Given the description of an element on the screen output the (x, y) to click on. 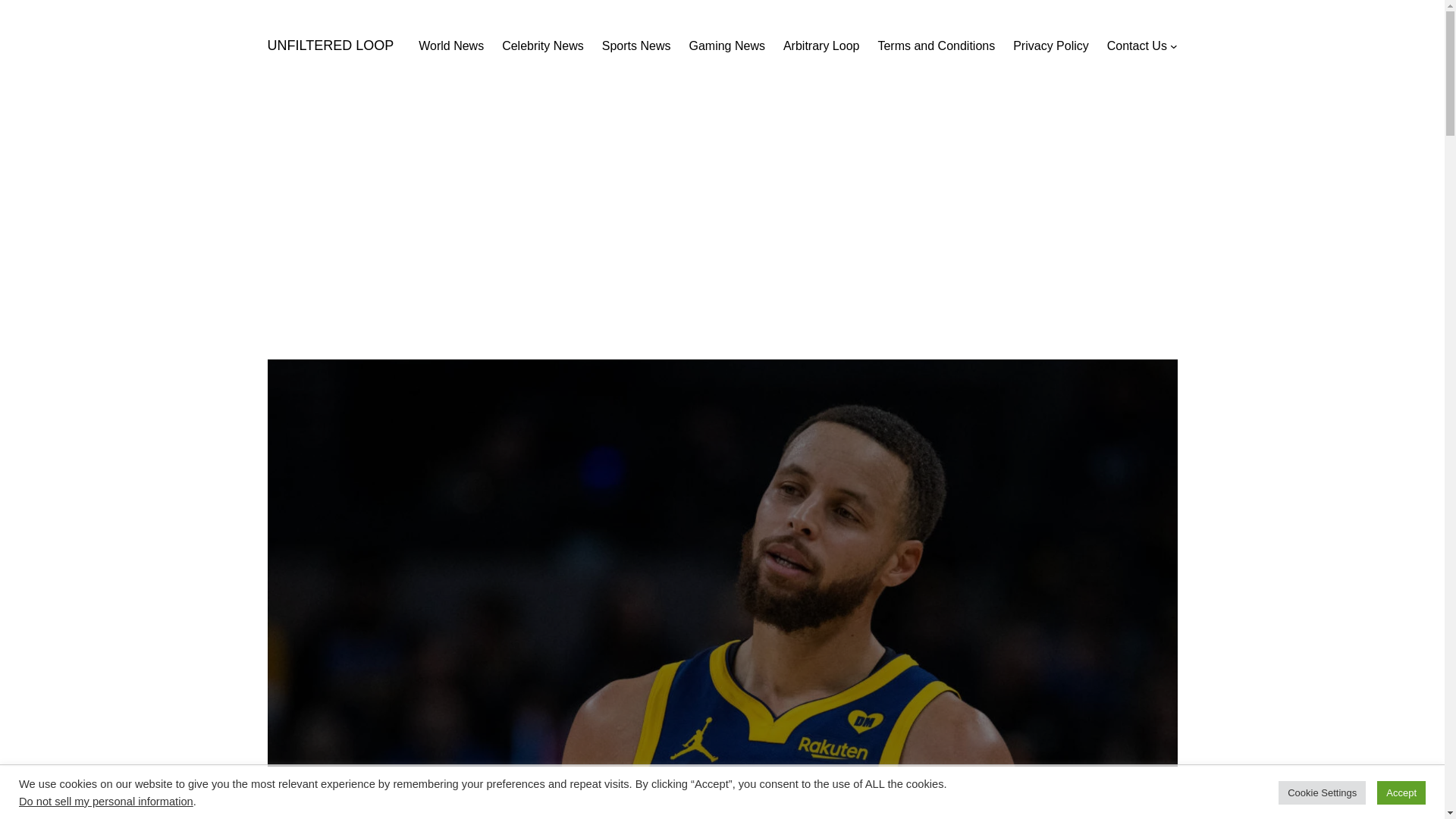
World News (451, 46)
Accept (1401, 792)
Arbitrary Loop (821, 46)
Terms and Conditions (935, 46)
UNFILTERED LOOP (329, 45)
Gaming News (726, 46)
Contact Us (1136, 46)
Sports News (636, 46)
Celebrity News (542, 46)
Privacy Policy (1051, 46)
